Given the description of an element on the screen output the (x, y) to click on. 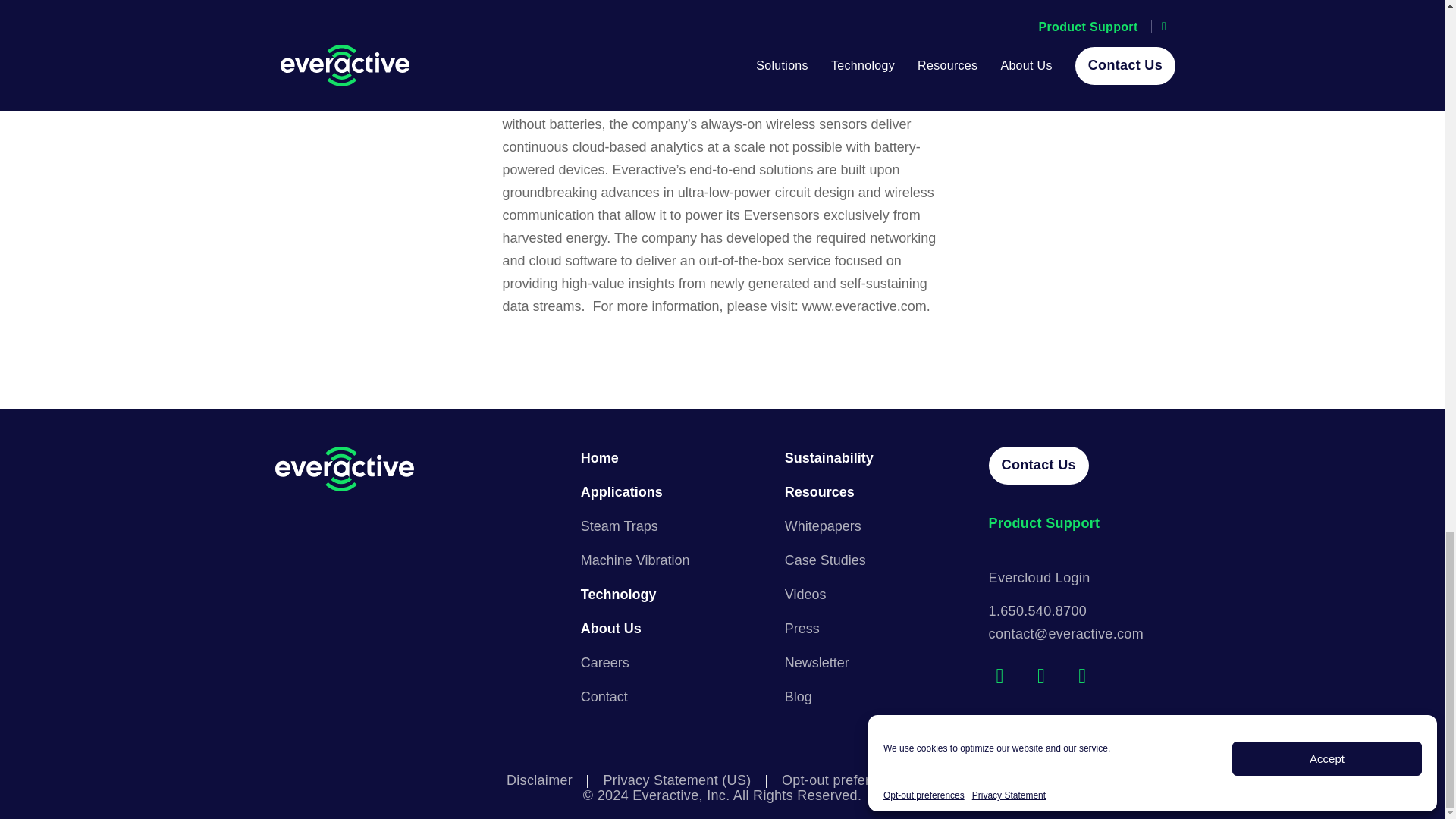
Everactive on LinkedIn (1040, 676)
Contact Us (1038, 465)
Everactive on Twitter (999, 676)
Everactive on YouTube (1081, 676)
Evercloud Login (1039, 578)
Evercloud Login (1079, 523)
